Given the description of an element on the screen output the (x, y) to click on. 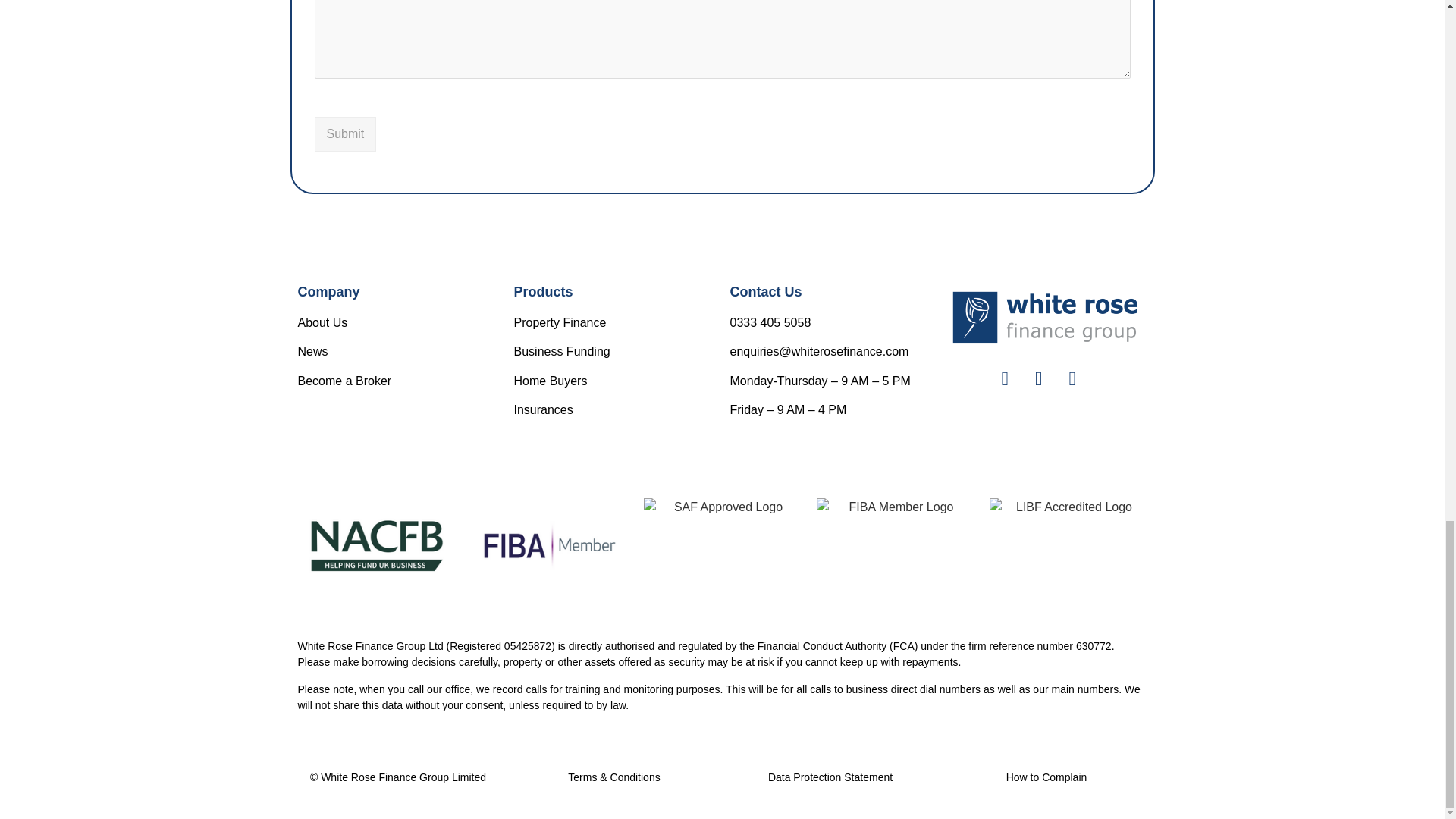
Business Funding (561, 350)
Property Finance (560, 322)
Submit (344, 134)
Become a Broker (344, 380)
News (312, 350)
Home Buyers (550, 380)
About Us (322, 322)
